Given the description of an element on the screen output the (x, y) to click on. 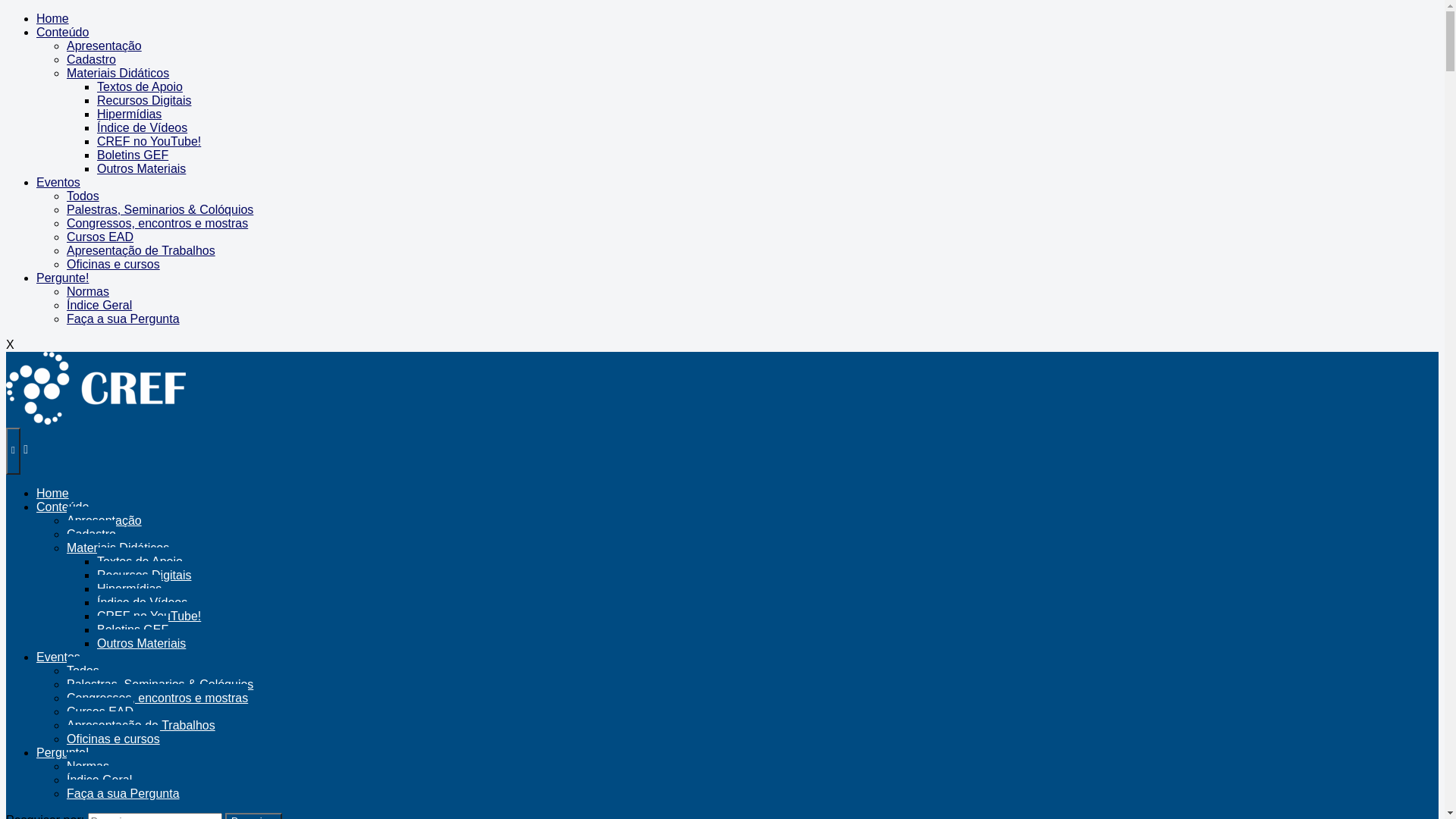
Eventos Element type: text (58, 181)
Boletins GEF Element type: text (132, 629)
Textos de Apoio Element type: text (139, 86)
Cursos EAD Element type: text (99, 711)
Home Element type: text (52, 492)
Cursos EAD Element type: text (99, 236)
Outros Materiais Element type: text (141, 643)
Congressos, encontros e mostras Element type: text (156, 222)
Recursos Digitais Element type: text (144, 575)
Pergunte! Element type: text (62, 277)
Recursos Digitais Element type: text (144, 100)
CREF no YouTube! Element type: text (148, 140)
Textos de Apoio Element type: text (139, 561)
CREF no YouTube! Element type: text (148, 616)
Cadastro Element type: text (91, 534)
Outros Materiais Element type: text (141, 168)
Normas Element type: text (87, 291)
Pergunte! Element type: text (62, 752)
Congressos, encontros e mostras Element type: text (156, 698)
Boletins GEF Element type: text (132, 154)
Eventos Element type: text (58, 656)
Oficinas e cursos Element type: text (113, 738)
Todos Element type: text (82, 670)
Cadastro Element type: text (91, 59)
Normas Element type: text (87, 766)
Oficinas e cursos Element type: text (113, 263)
Todos Element type: text (82, 195)
Home Element type: text (52, 18)
X Element type: text (10, 344)
